Given the description of an element on the screen output the (x, y) to click on. 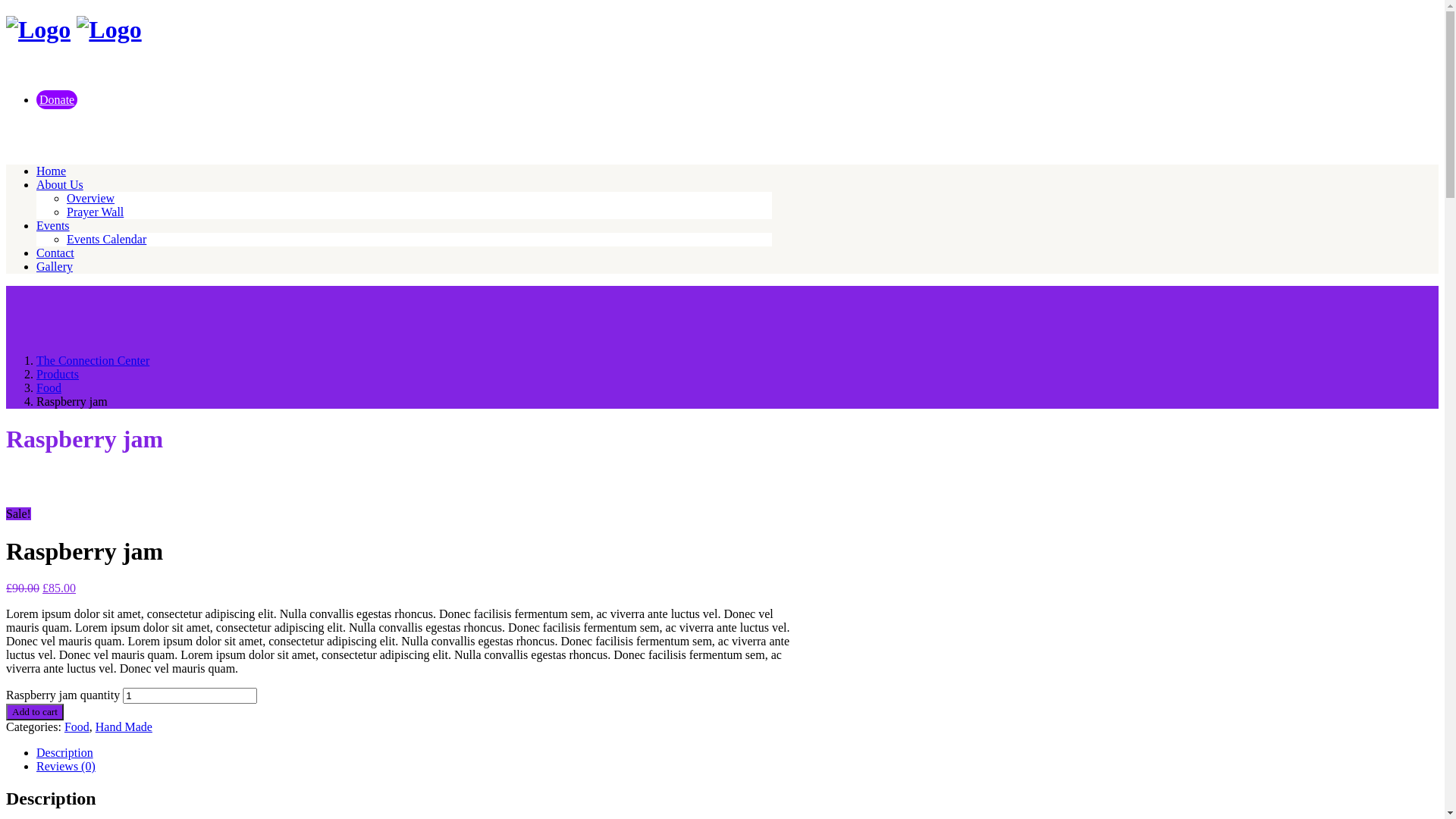
Events Calendar Element type: text (106, 239)
Overview Element type: text (90, 198)
Prayer Wall Element type: text (94, 212)
Add to cart Element type: text (34, 711)
Qty Element type: hover (189, 695)
Hand Made Element type: text (123, 726)
Food Element type: text (48, 387)
Reviews (0) Element type: text (65, 765)
Events Element type: text (52, 225)
Logo Element type: hover (38, 29)
Description Element type: text (64, 752)
Products Element type: text (57, 373)
The Connection Center Element type: text (92, 360)
Home Element type: text (50, 170)
Food Element type: text (76, 726)
Contact Element type: text (55, 252)
Donate Element type: text (56, 99)
About Us Element type: text (59, 184)
Logo Element type: hover (108, 29)
Gallery Element type: text (54, 266)
